Given the description of an element on the screen output the (x, y) to click on. 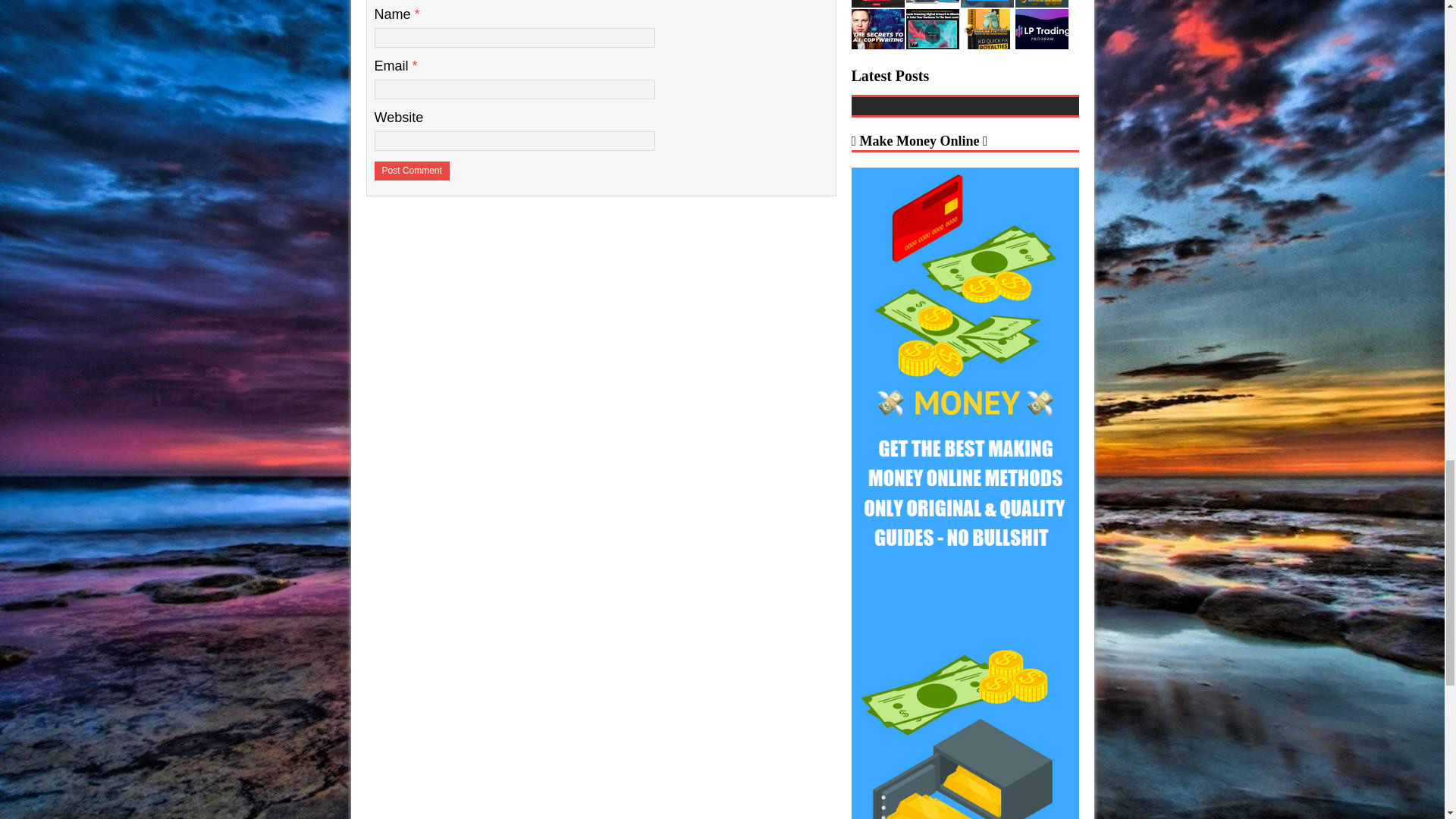
Post Comment (411, 170)
Post Comment (411, 170)
